Given the description of an element on the screen output the (x, y) to click on. 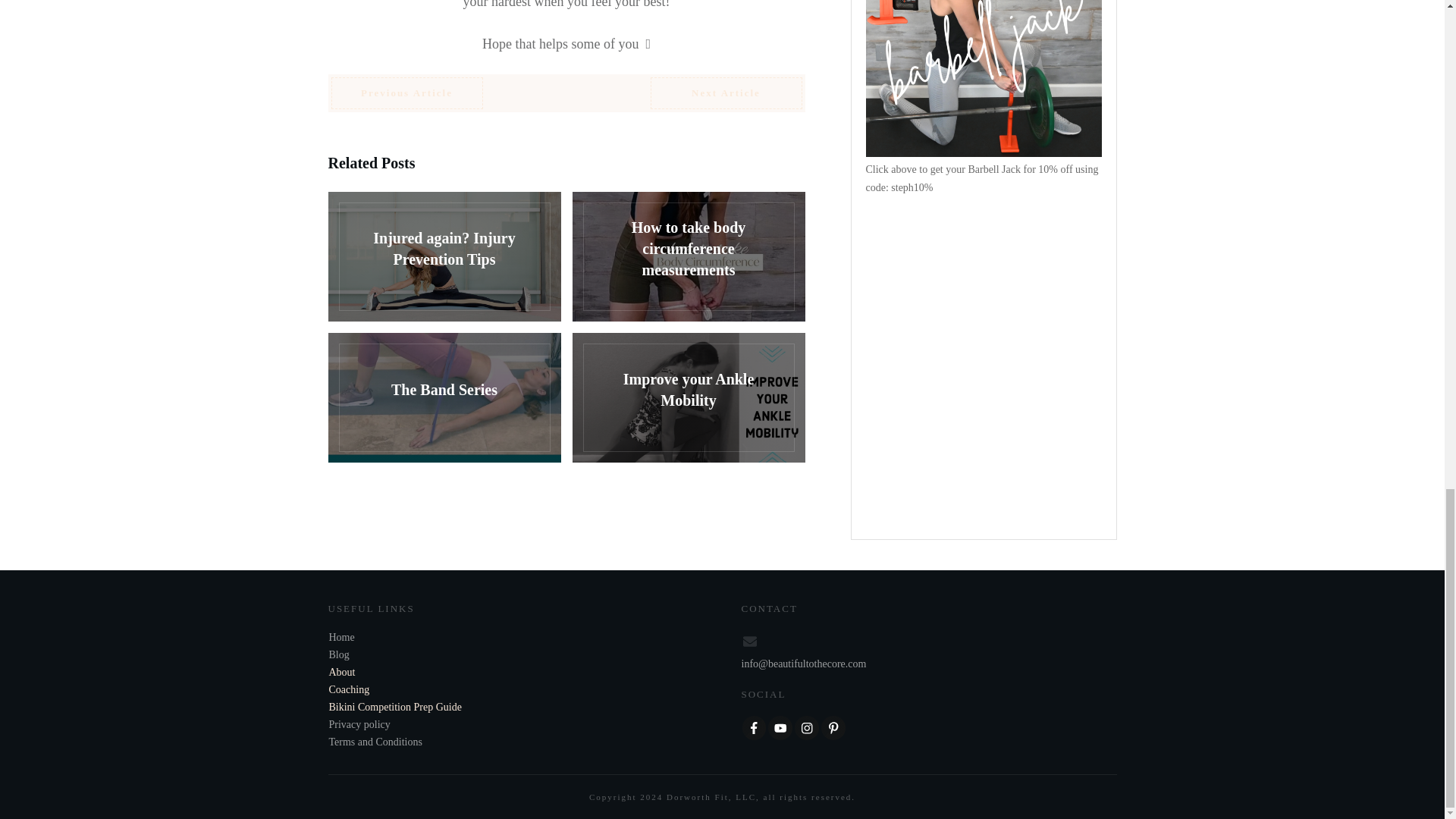
Improve your Ankle Mobility (688, 397)
About (342, 672)
Next Article (726, 92)
Injured again? Injury Prevention Tips (443, 256)
Bikini Competition Prep Guide (395, 706)
Home (342, 636)
Blog (339, 654)
Coaching (349, 689)
The Band Series (443, 397)
Terms and Conditions (375, 741)
Privacy policy (359, 724)
How to take body circumference measurements (688, 256)
Previous Article (405, 92)
